Given the description of an element on the screen output the (x, y) to click on. 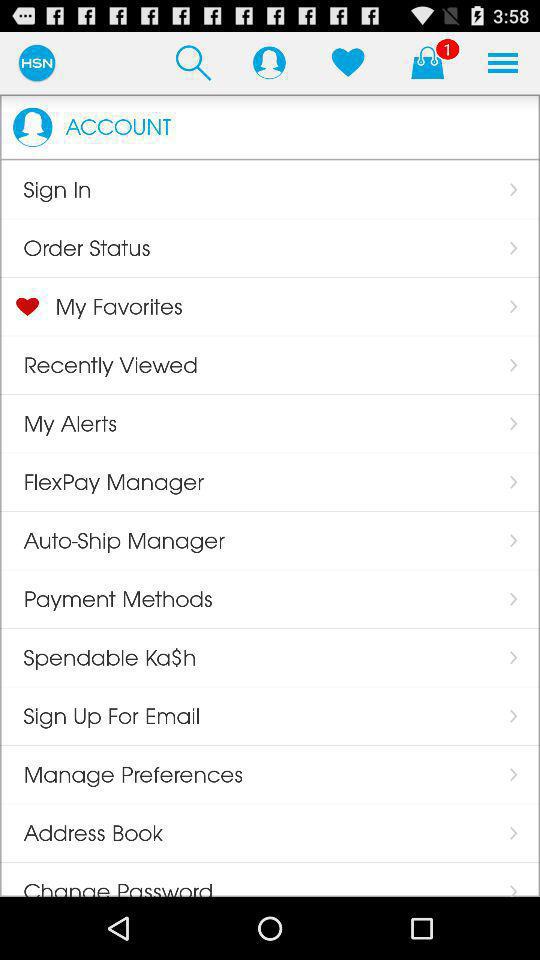
launch item above the change password icon (81, 833)
